Given the description of an element on the screen output the (x, y) to click on. 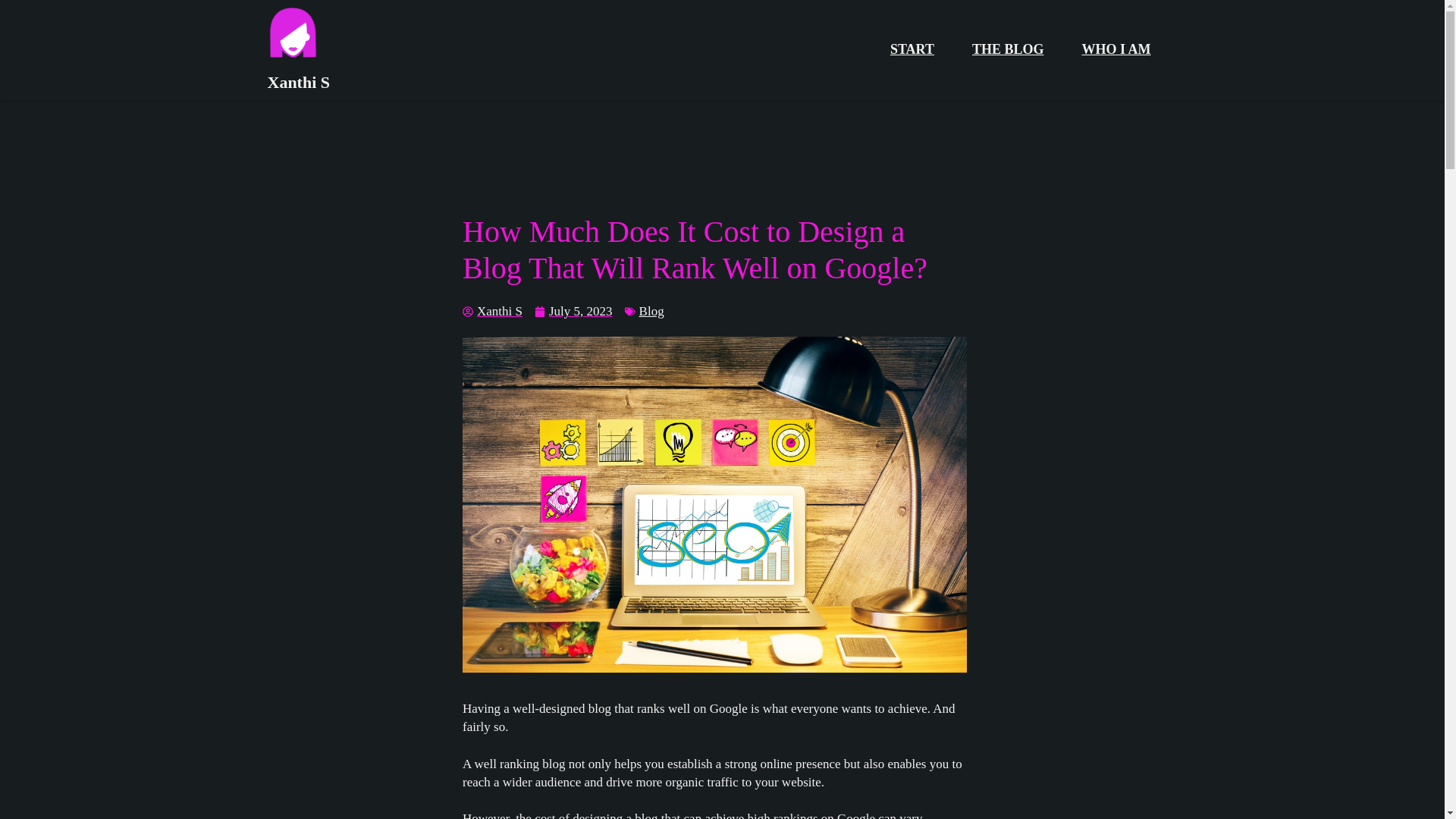
START (911, 49)
Blog (651, 310)
July 5, 2023 (573, 311)
Xanthi S (492, 311)
WHO I AM (1115, 49)
THE BLOG (1007, 49)
